Given the description of an element on the screen output the (x, y) to click on. 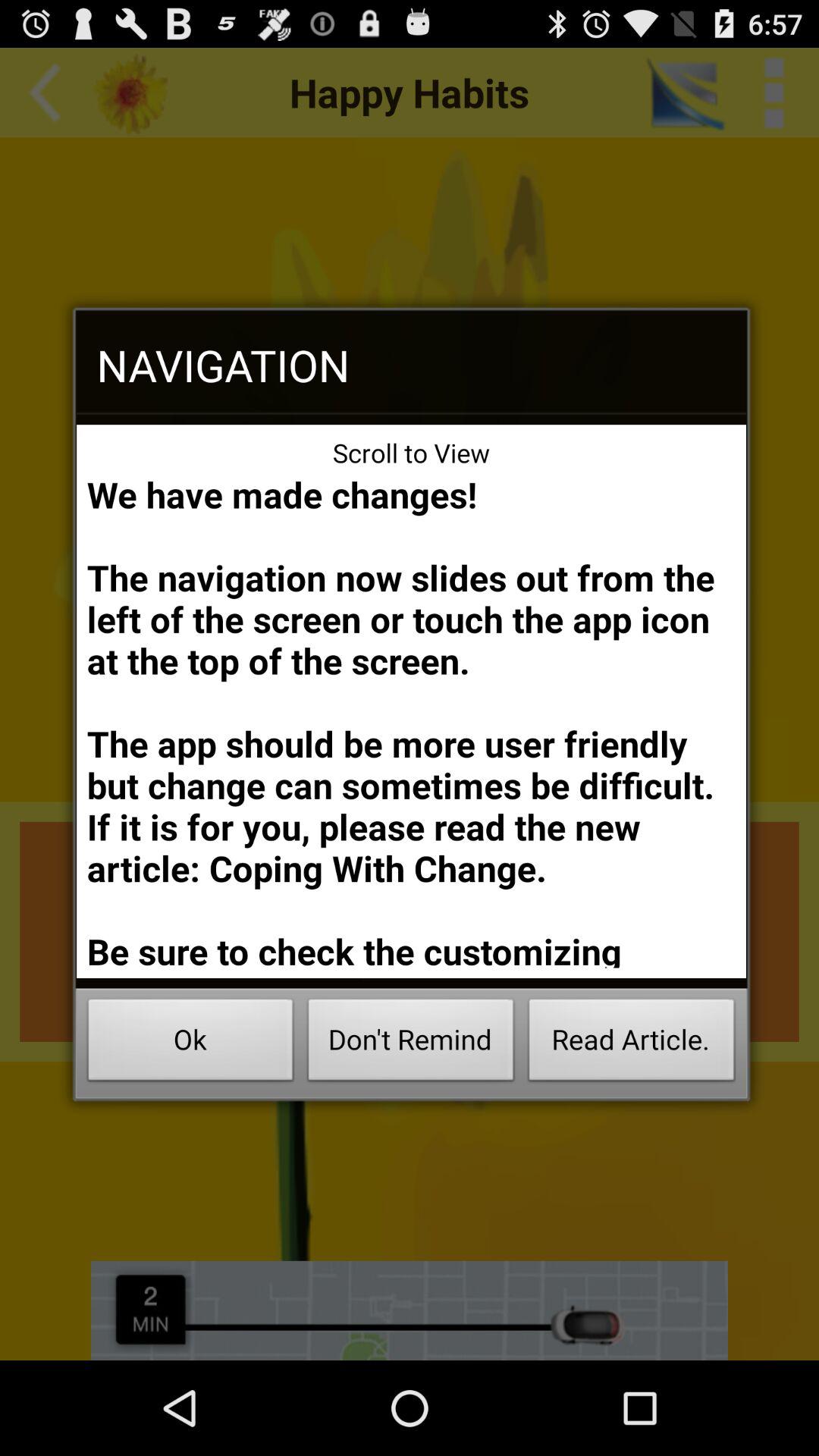
press icon below we have made (410, 1044)
